Given the description of an element on the screen output the (x, y) to click on. 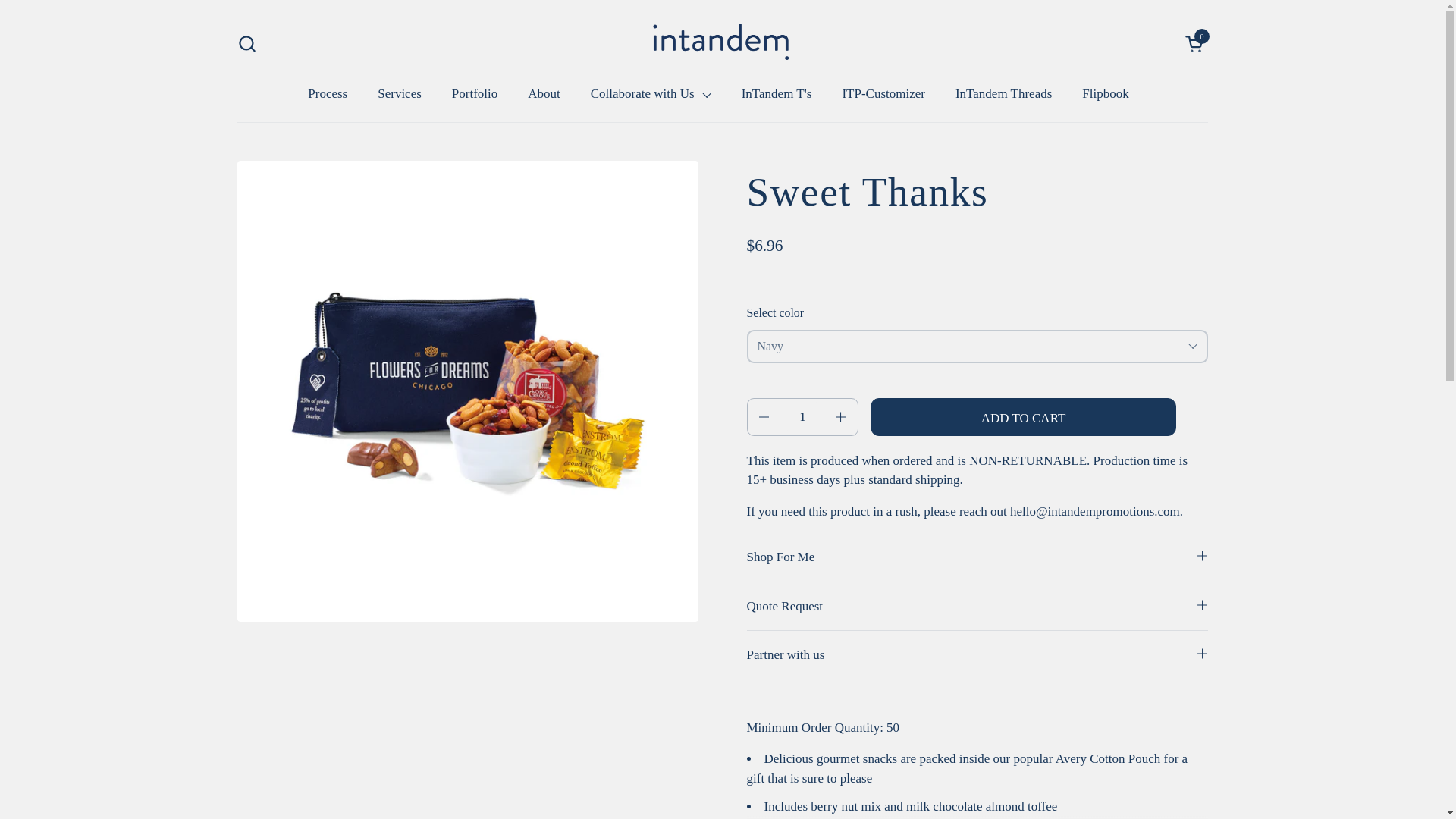
InTandem Threads (1003, 93)
Open search (245, 43)
InTandem T's (776, 93)
InTandem Promotions  (721, 40)
Flipbook (1104, 93)
ITP-Customizer (1196, 43)
Portfolio (883, 93)
Open cart (474, 93)
